Given the description of an element on the screen output the (x, y) to click on. 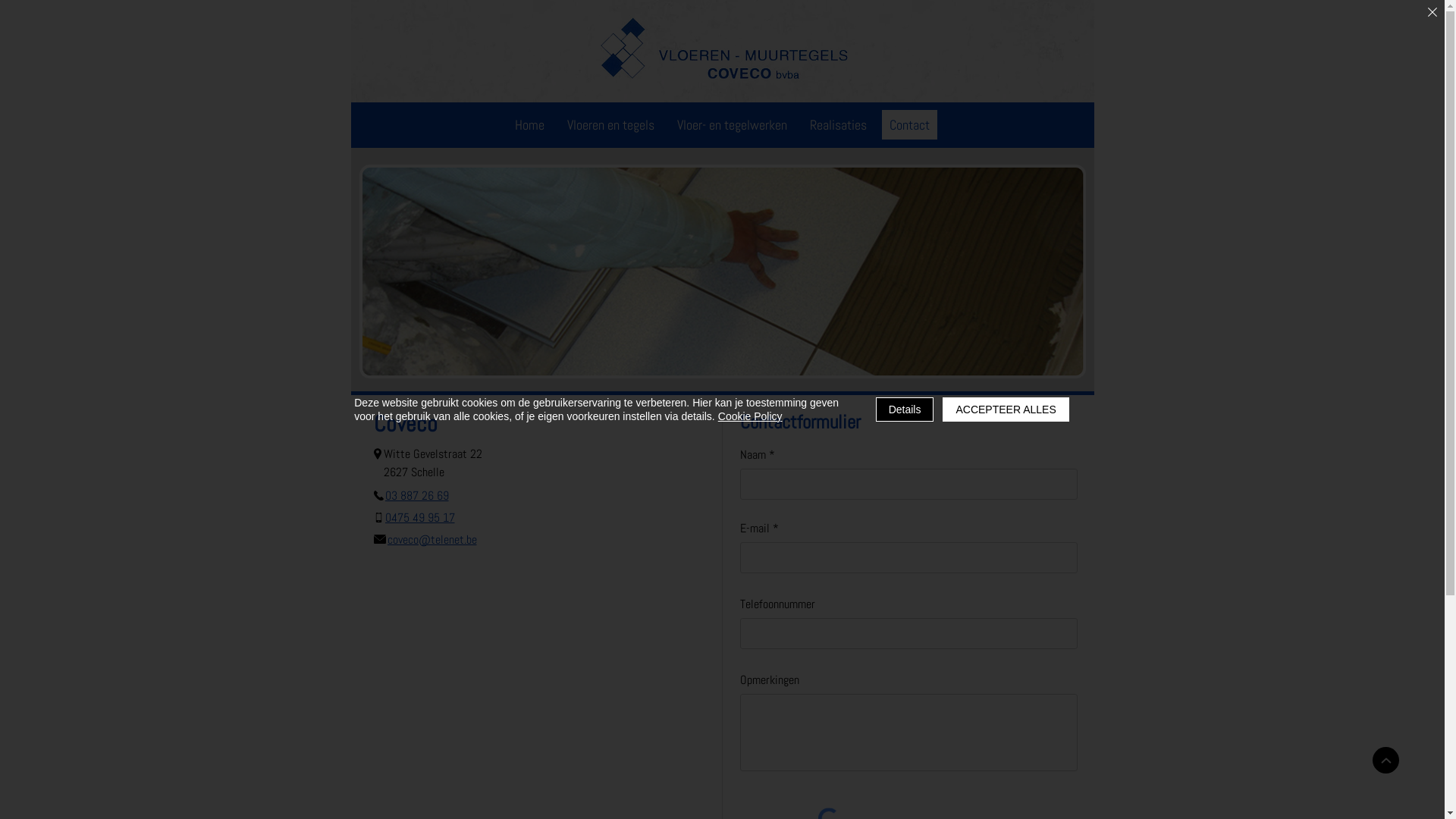
ACCEPTEER ALLES Element type: text (1005, 409)
Details Element type: text (904, 409)
Home Element type: text (528, 124)
Realisaties Element type: text (838, 124)
Vloer- en tegelwerken Element type: text (730, 124)
Cookie Policy Element type: text (750, 416)
Vloeren en tegels Element type: text (610, 124)
coveco@telenet.be Element type: text (433, 539)
0475 49 95 17 Element type: text (433, 517)
03 887 26 69 Element type: text (433, 495)
Contact Element type: text (908, 124)
